Given the description of an element on the screen output the (x, y) to click on. 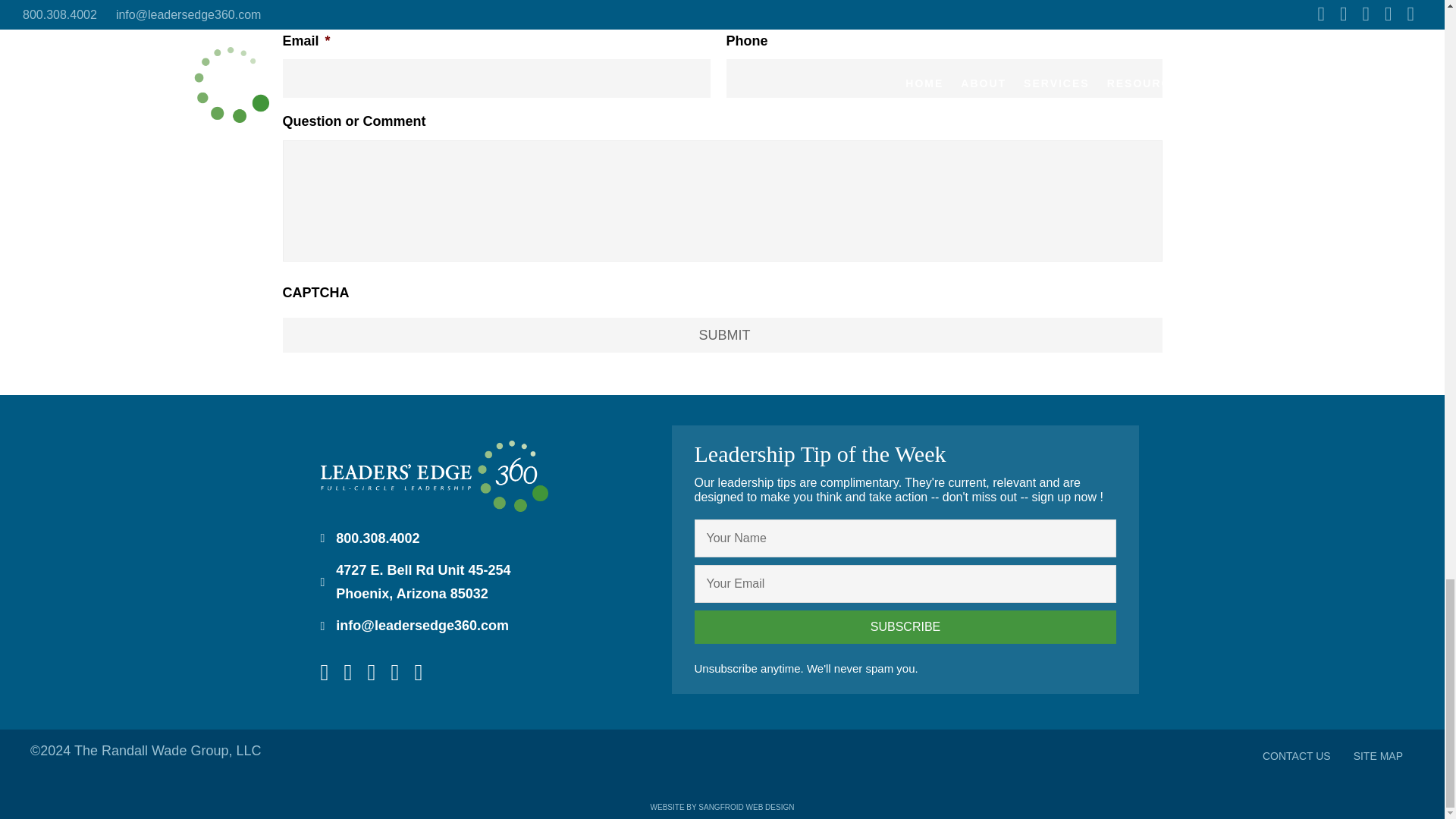
Submit (721, 334)
